Given the description of an element on the screen output the (x, y) to click on. 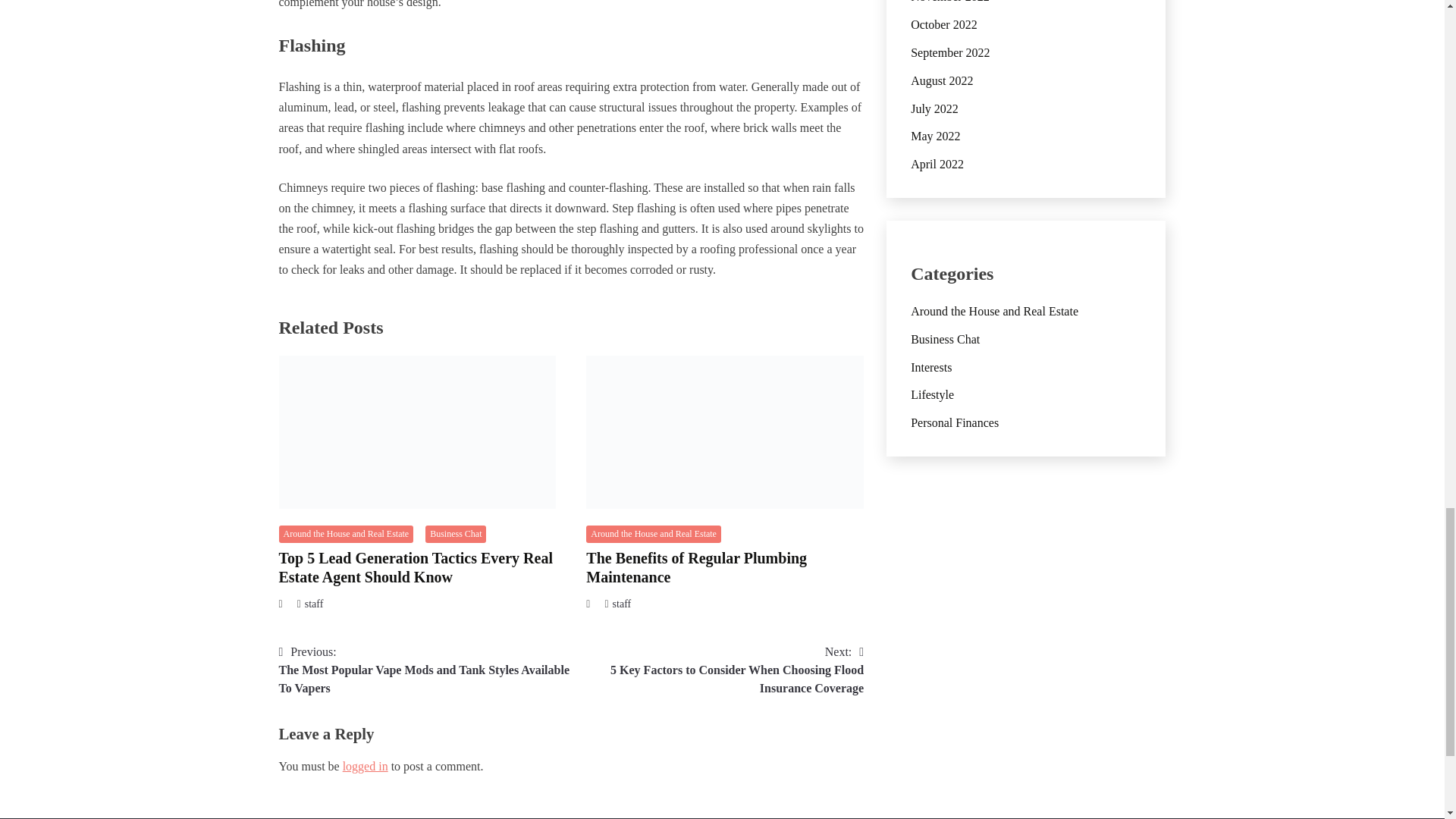
staff (621, 603)
Business Chat (455, 533)
logged in (365, 766)
Around the House and Real Estate (346, 533)
staff (313, 603)
Around the House and Real Estate (653, 533)
The Benefits of Regular Plumbing Maintenance (696, 567)
